Given the description of an element on the screen output the (x, y) to click on. 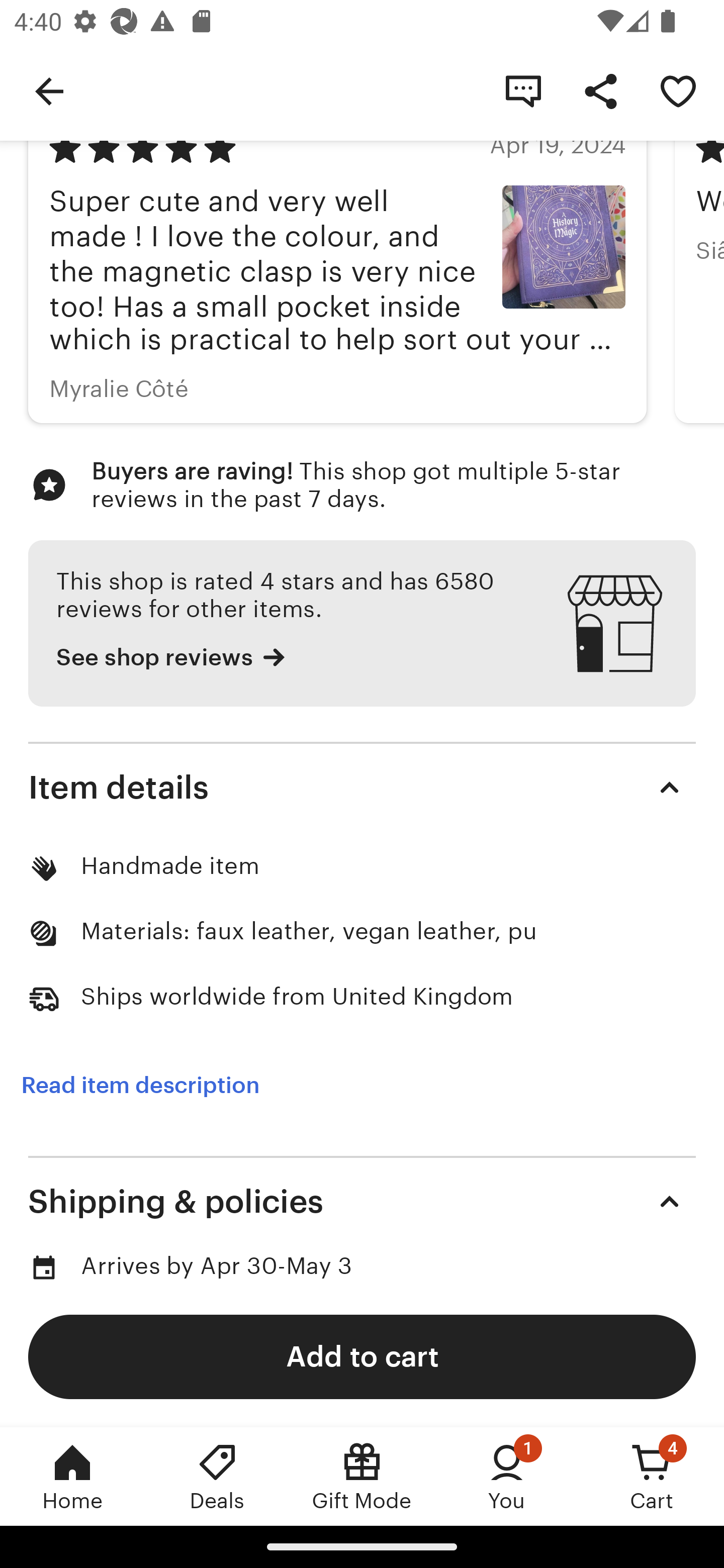
Navigate up (49, 90)
Contact shop (523, 90)
Share (600, 90)
Item details (362, 786)
Read item description (140, 1084)
Shipping & policies (362, 1201)
Add to cart (361, 1355)
Deals (216, 1475)
Gift Mode (361, 1475)
You, 1 new notification You (506, 1475)
Cart, 4 new notifications Cart (651, 1475)
